Given the description of an element on the screen output the (x, y) to click on. 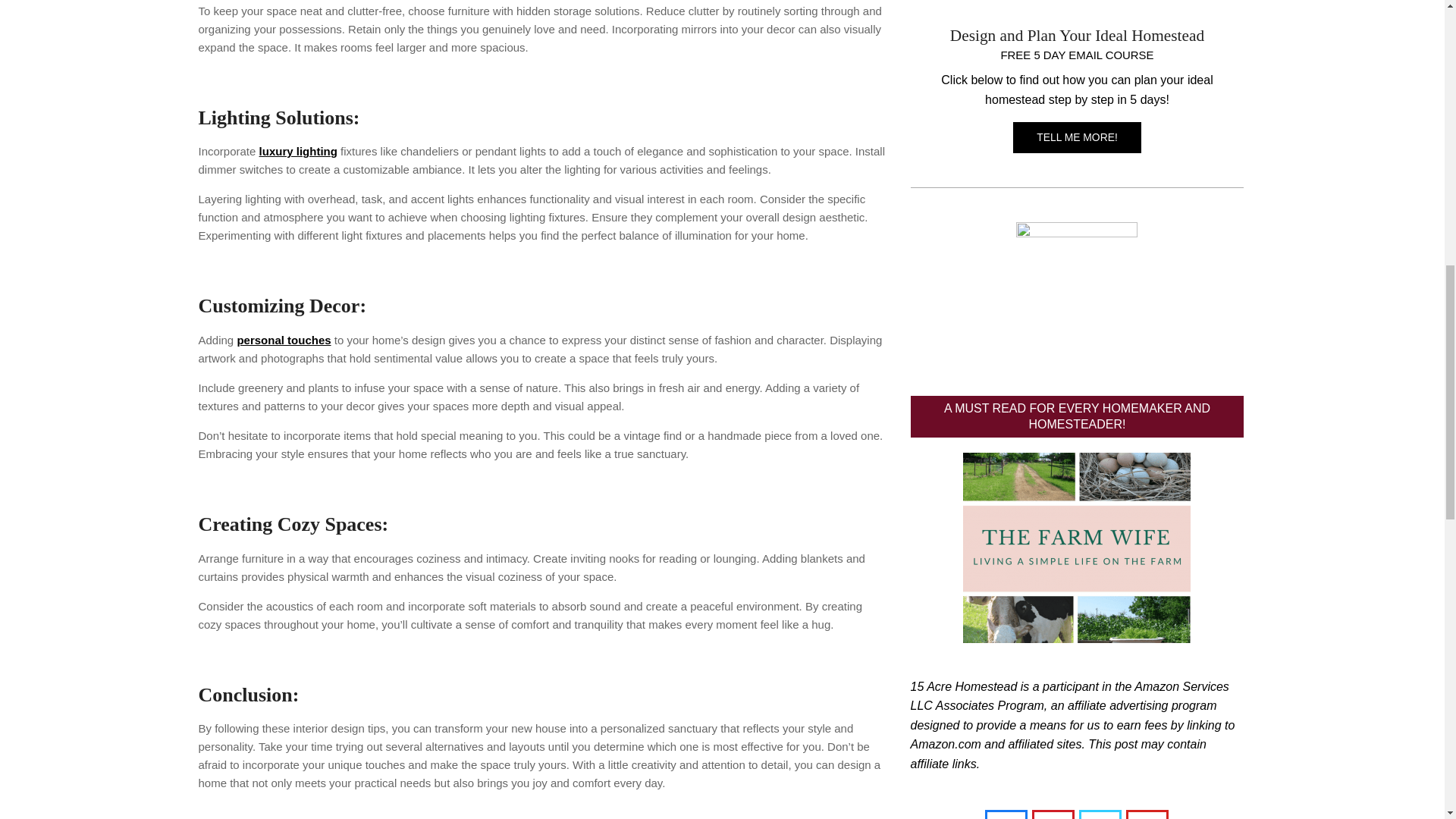
personal touches (282, 339)
A must read for every homemaker and homesteader! (1076, 547)
luxury lighting (298, 151)
